Given the description of an element on the screen output the (x, y) to click on. 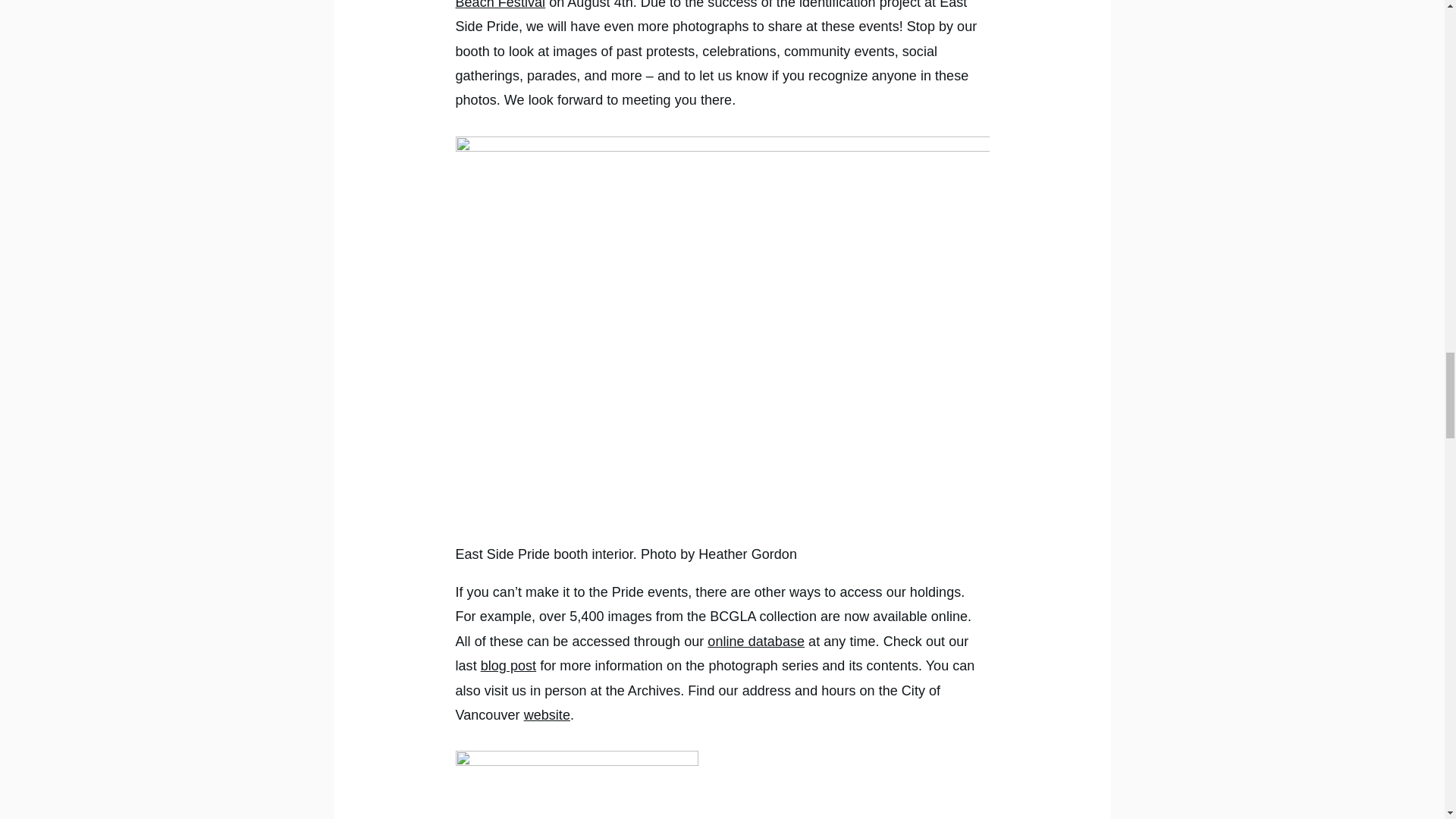
online database (756, 641)
website (547, 714)
blog post (507, 665)
Sunset Beach Festival (708, 4)
